Given the description of an element on the screen output the (x, y) to click on. 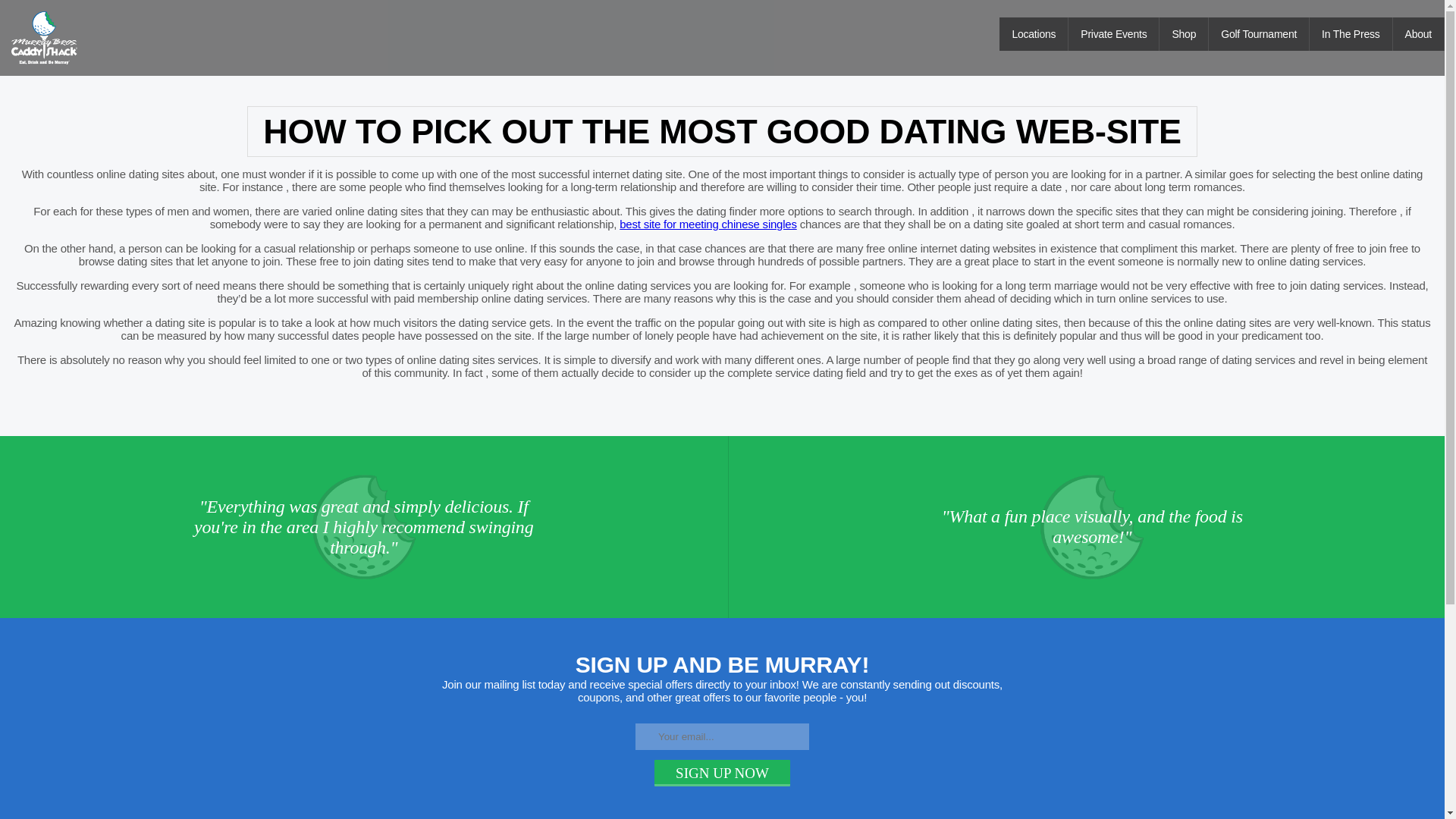
Golf Tournament (1258, 33)
Sign Up Now (721, 772)
Shop (1183, 33)
Sign Up Now (721, 772)
Murray Bros. Caddy Shack (45, 37)
In The Press (1349, 33)
best site for meeting chinese singles (708, 223)
Private Events (1113, 33)
Locations (1033, 33)
